Given the description of an element on the screen output the (x, y) to click on. 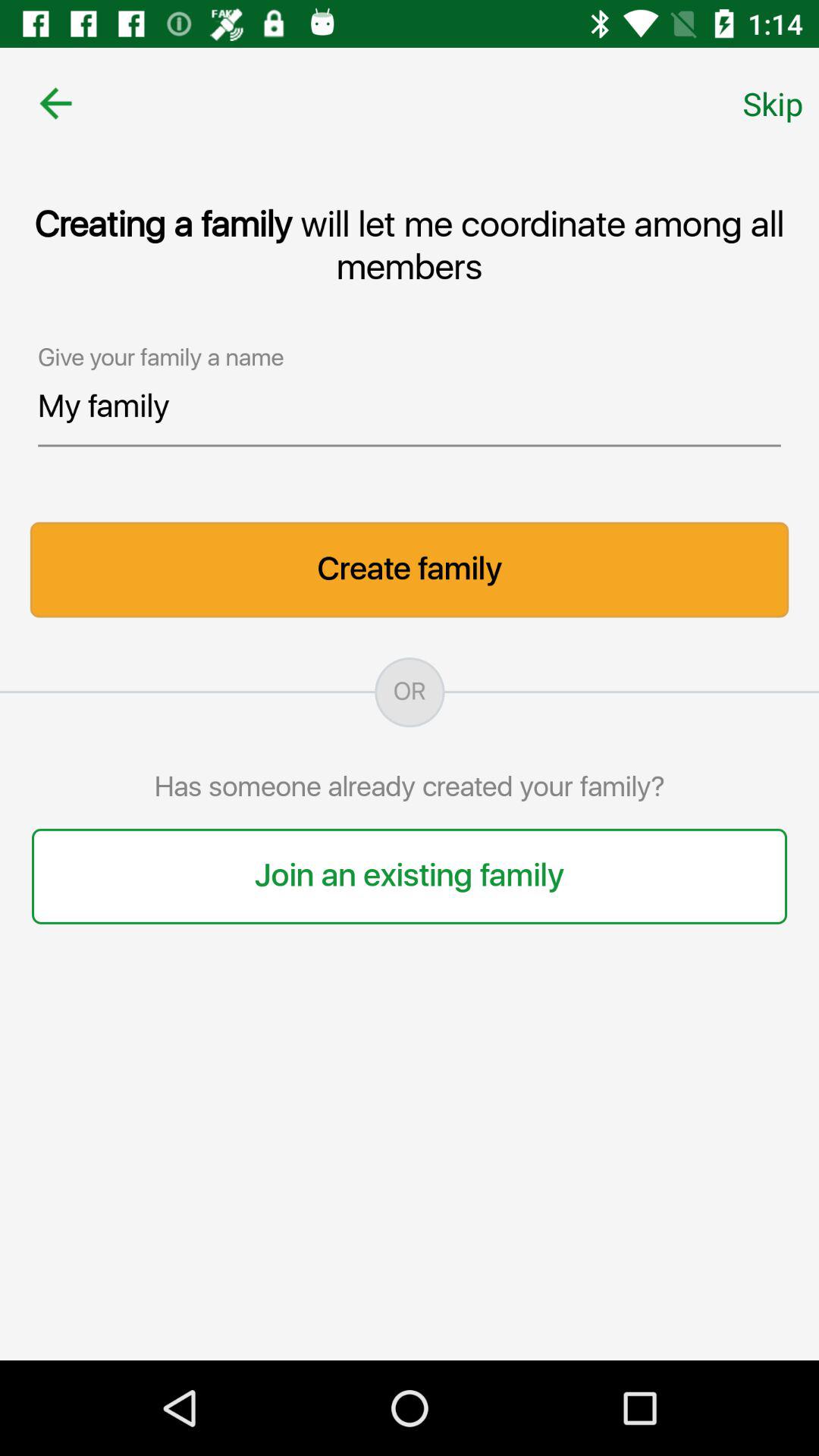
swipe to the skip (772, 103)
